Given the description of an element on the screen output the (x, y) to click on. 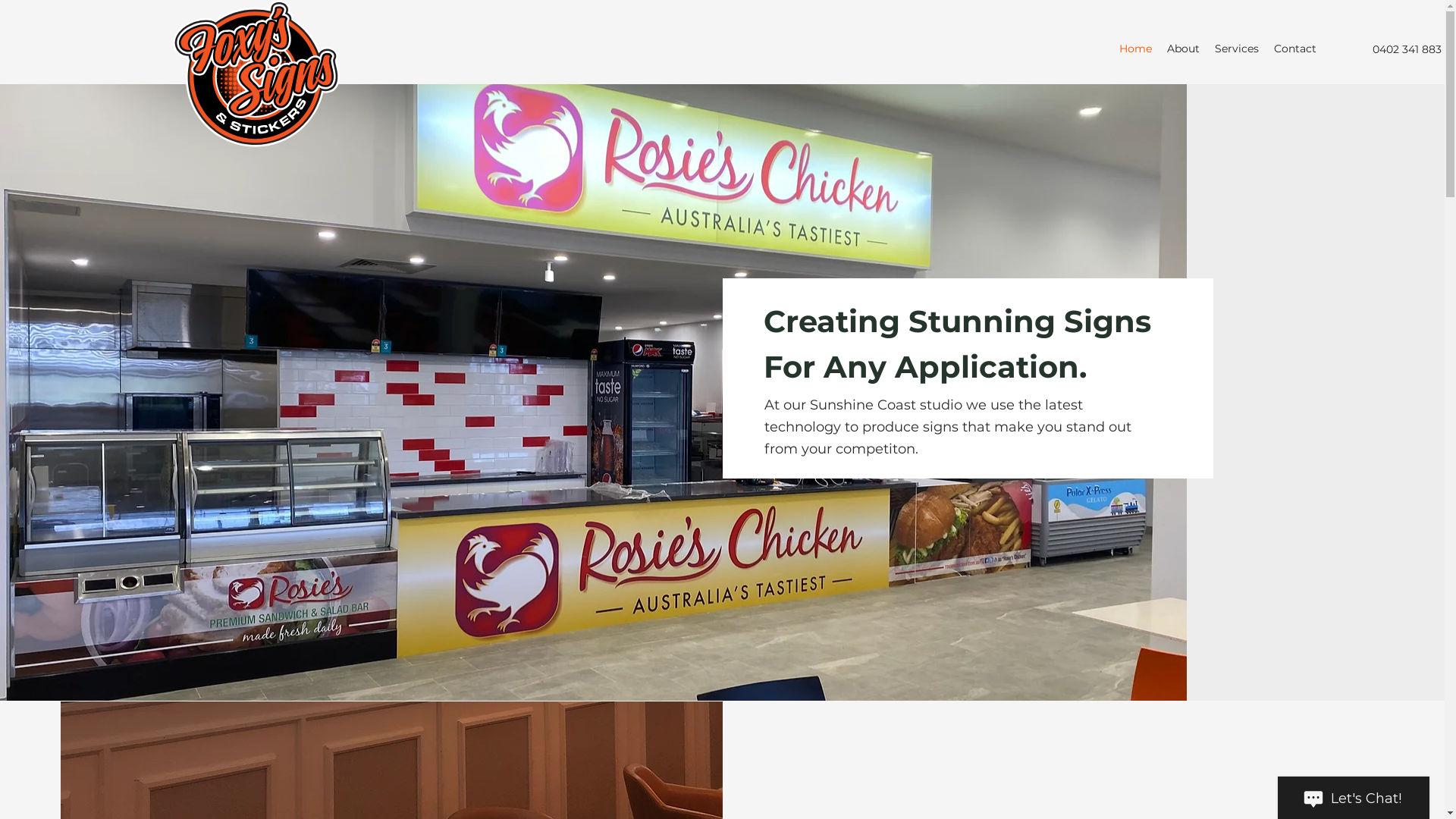
About Element type: text (1183, 48)
Contact Element type: text (1295, 48)
Services Element type: text (1236, 48)
Home Element type: text (1135, 48)
